Given the description of an element on the screen output the (x, y) to click on. 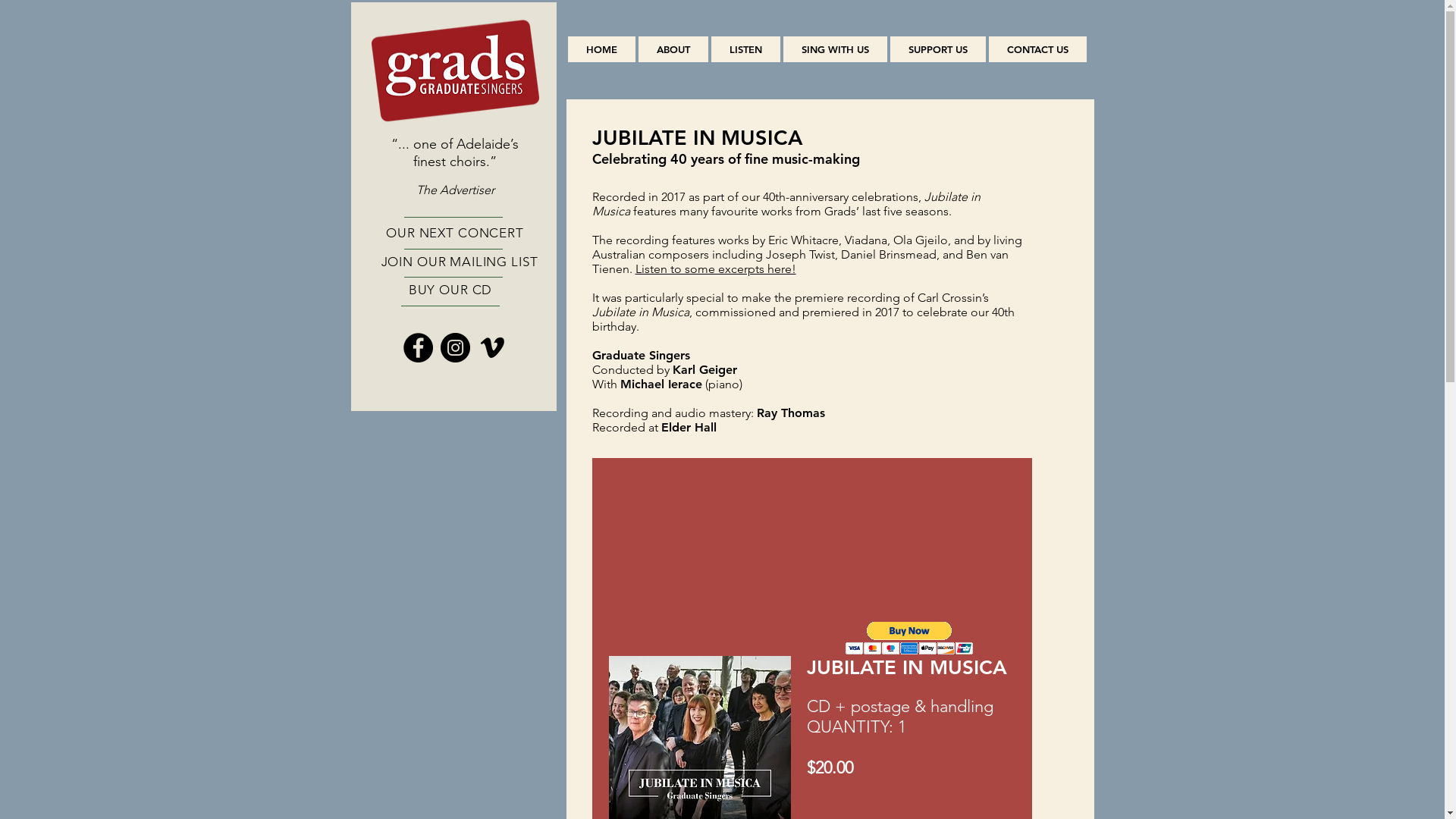
The Advertiser Element type: text (454, 189)
HOME Element type: text (600, 49)
CONTACT US Element type: text (1037, 49)
BUY OUR CD Element type: text (450, 289)
LISTEN Element type: text (745, 49)
Listen to some excerpts here! Element type: text (715, 268)
SING WITH US Element type: text (834, 49)
OUR NEXT CONCERT Element type: text (454, 232)
JOIN OUR MAILING LIST Element type: text (459, 261)
SUPPORT US Element type: text (937, 49)
